Given the description of an element on the screen output the (x, y) to click on. 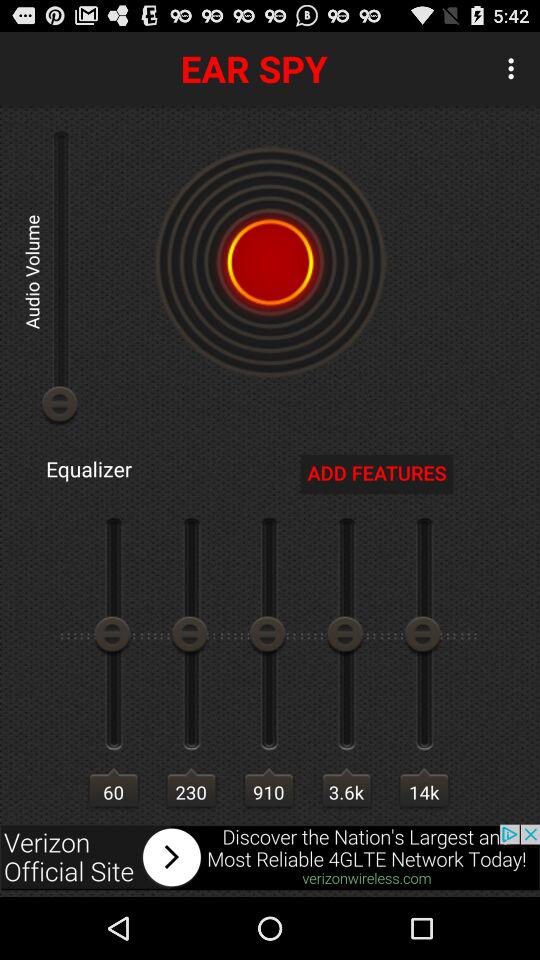
record voice (269, 262)
